Given the description of an element on the screen output the (x, y) to click on. 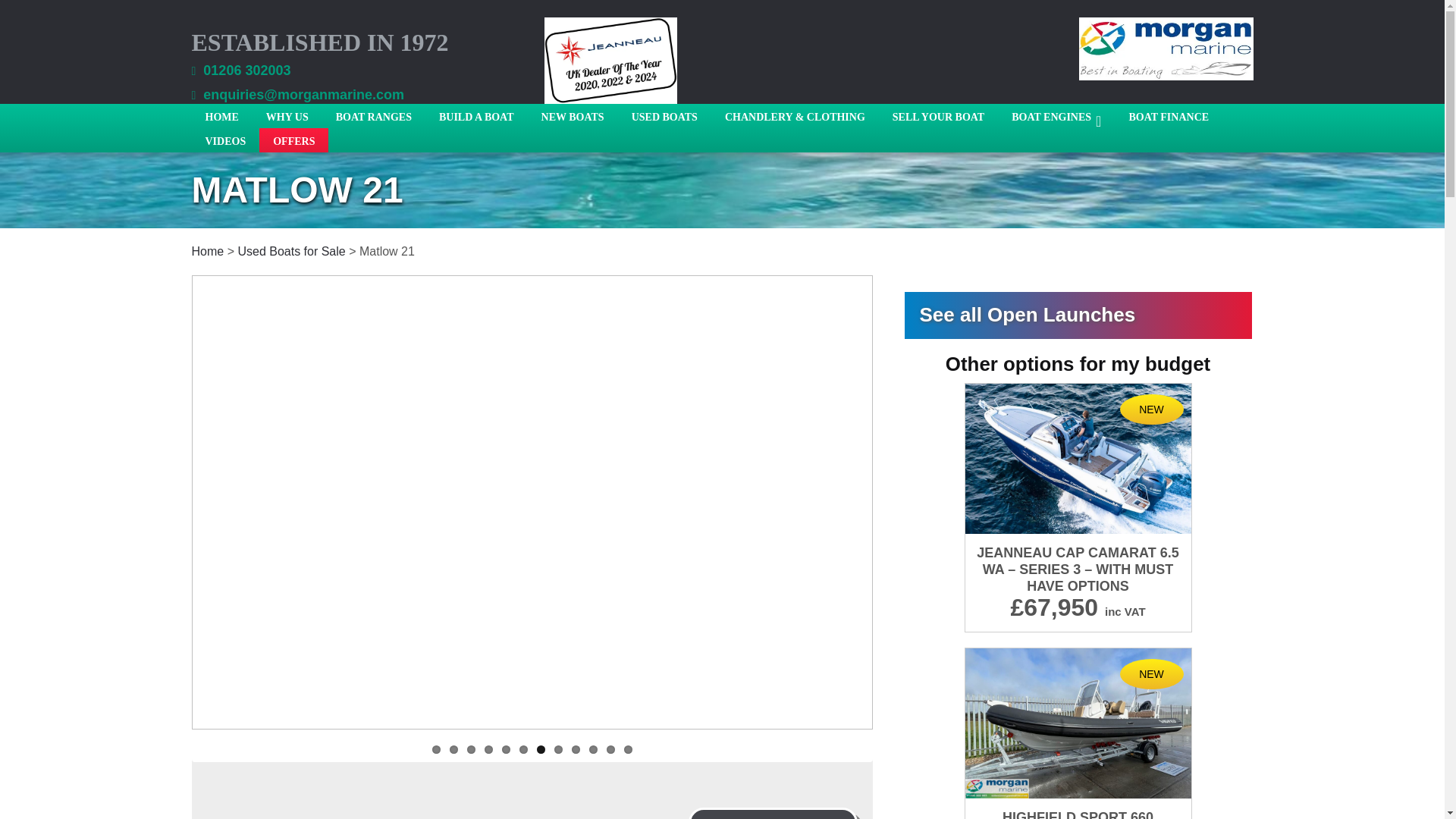
SELL YOUR BOAT (938, 115)
USED BOATS (664, 115)
WHY US (286, 115)
BOAT RANGES (373, 115)
NEW BOATS (572, 115)
BUILD A BOAT (476, 115)
VIDEOS (224, 139)
OFFERS (294, 139)
BOAT ENGINES (1056, 115)
BOAT FINANCE (1169, 115)
HOME (220, 115)
